Given the description of an element on the screen output the (x, y) to click on. 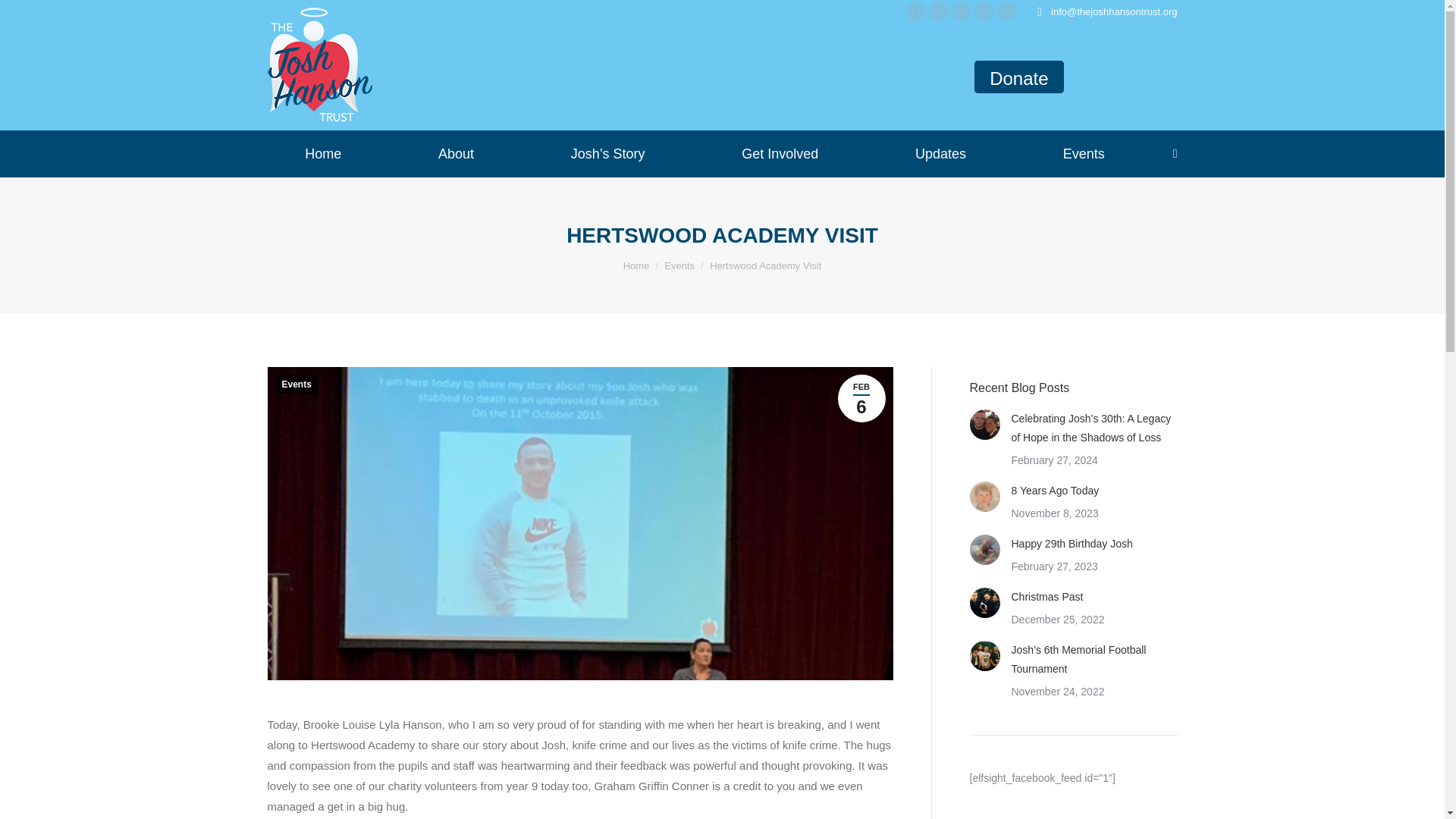
Home (322, 153)
Instagram page opens in new window (1006, 11)
Get Involved (779, 153)
Updates (940, 153)
Events (1083, 153)
YouTube page opens in new window (938, 11)
Linkedin page opens in new window (915, 11)
Facebook page opens in new window (961, 11)
About (456, 153)
X page opens in new window (984, 11)
Facebook page opens in new window (961, 11)
Linkedin page opens in new window (915, 11)
Donate (1018, 76)
X page opens in new window (984, 11)
YouTube page opens in new window (938, 11)
